Given the description of an element on the screen output the (x, y) to click on. 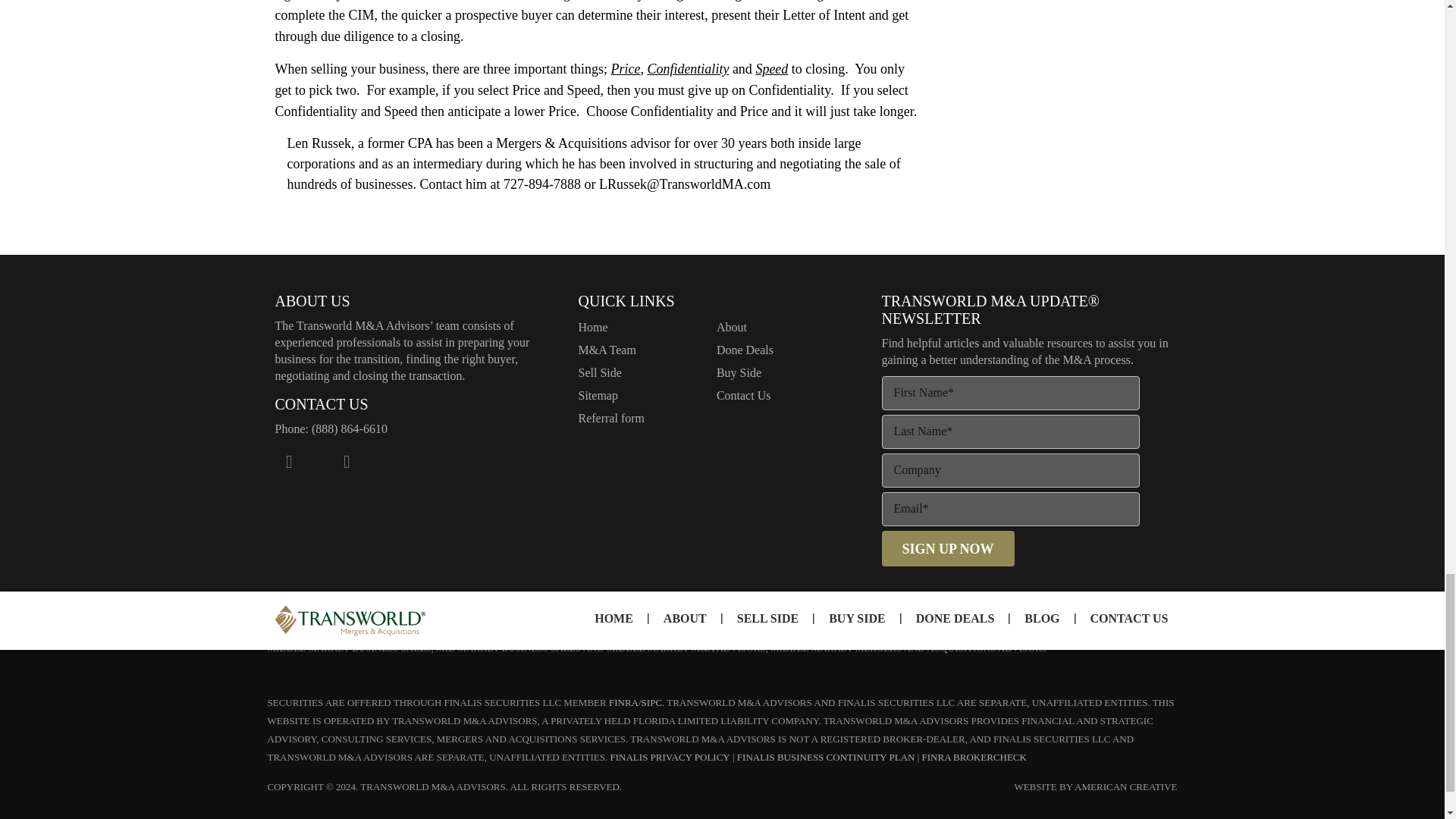
MIDDLE MARKET BUSINESS SALES (348, 647)
Twitter (317, 461)
Referral form (611, 418)
Home (592, 327)
Sell Side (599, 372)
Facebook (288, 461)
Contact Us (743, 395)
SIGN UP NOW (946, 548)
About (731, 327)
Sitemap (597, 395)
